Given the description of an element on the screen output the (x, y) to click on. 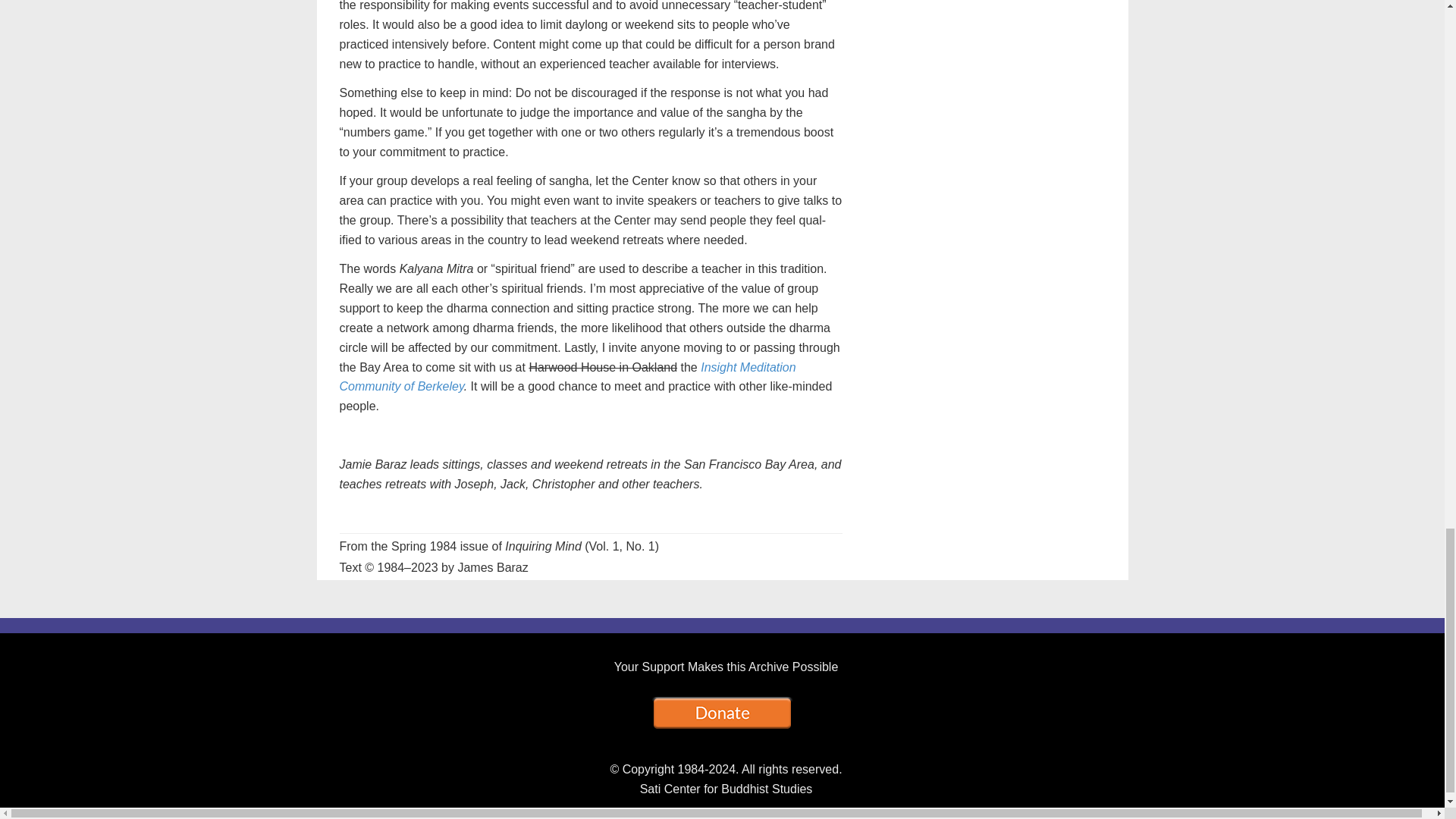
Page 1 (591, 540)
Insight Meditation Community of Berkeley (567, 377)
